Given the description of an element on the screen output the (x, y) to click on. 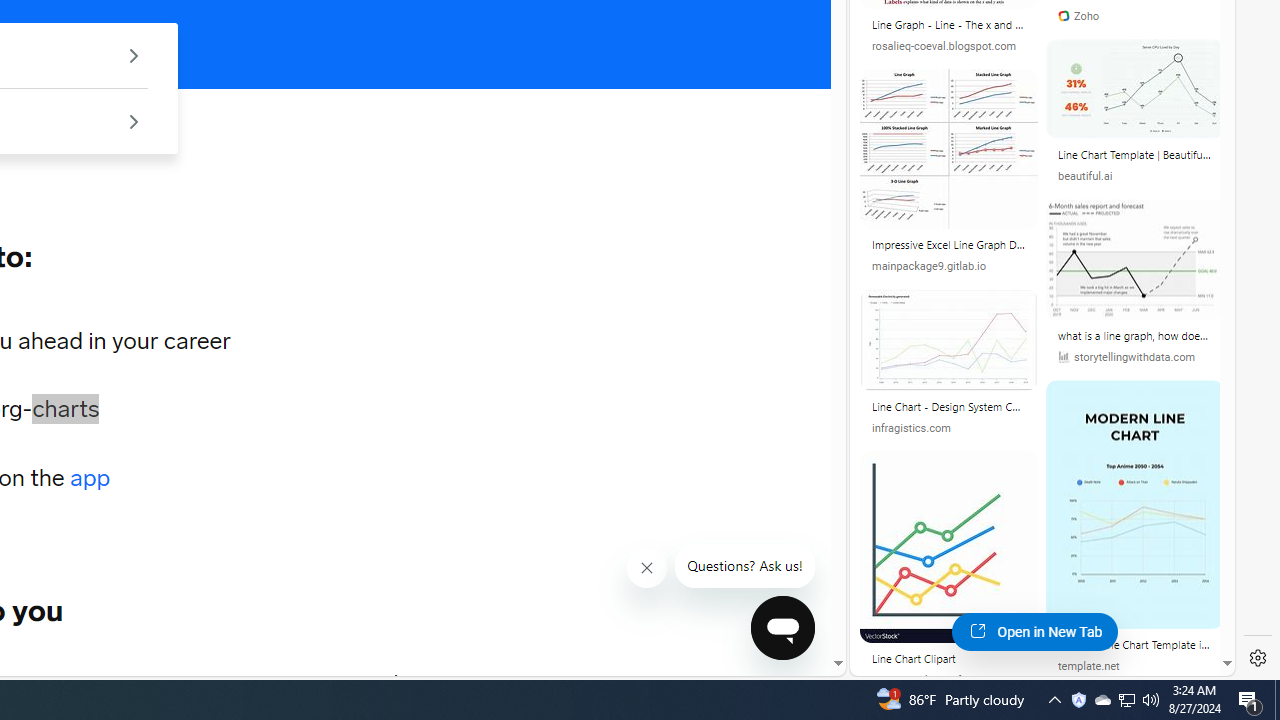
STRATEGY (283, 681)
Zoho (1078, 16)
Line Chart Clipart (948, 661)
beautiful.ai (1135, 175)
Forward (398, 681)
template.net (1089, 666)
MEDIA (397, 681)
Line Chart Template | Beautiful.ai (1135, 157)
mainpackage9.gitlab.io (928, 265)
infragistics.com (911, 427)
mainpackage9.gitlab.io (948, 265)
